Given the description of an element on the screen output the (x, y) to click on. 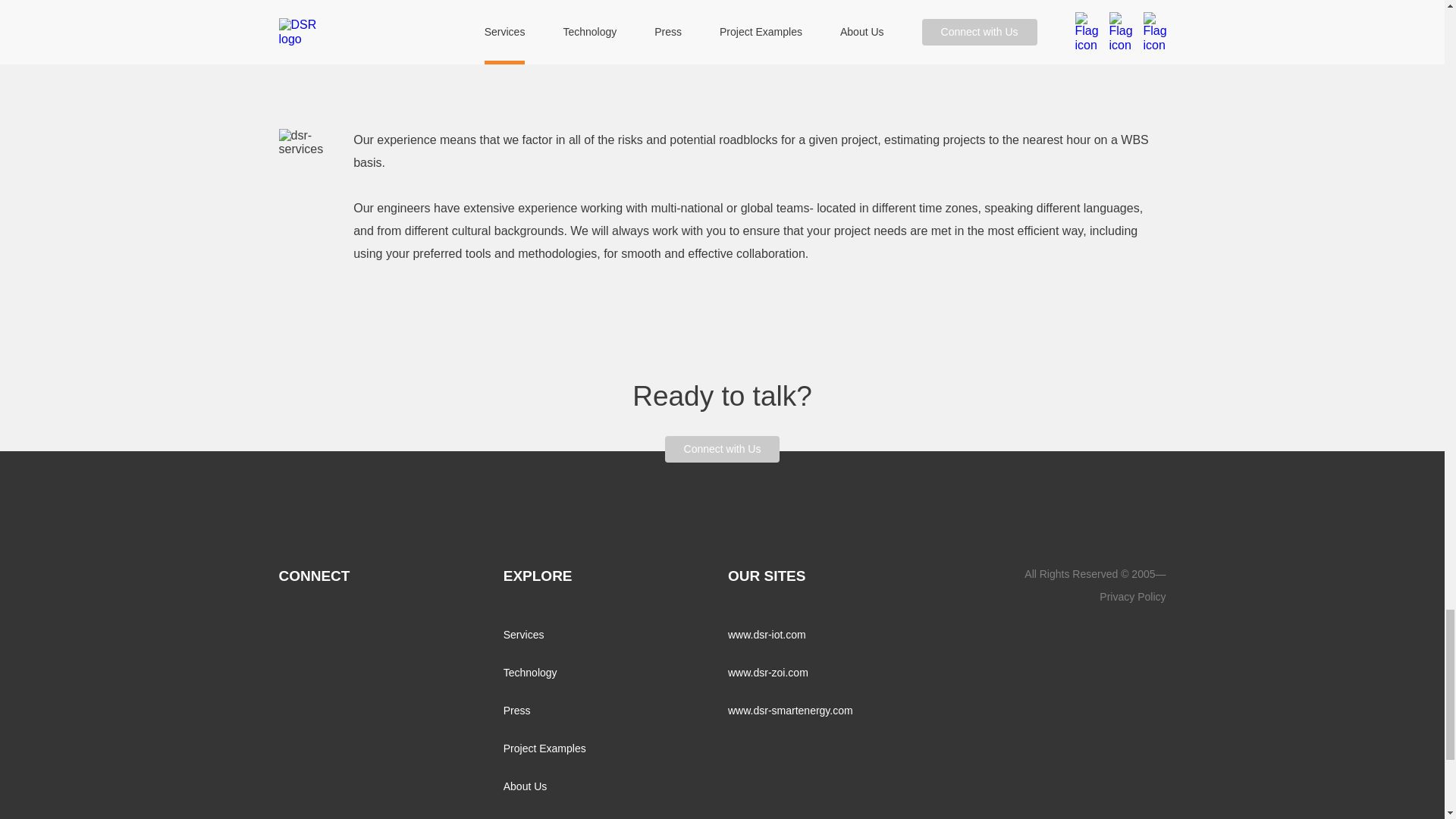
Connect with Us (722, 448)
Press (517, 710)
Services (523, 634)
Technology (530, 672)
